Given the description of an element on the screen output the (x, y) to click on. 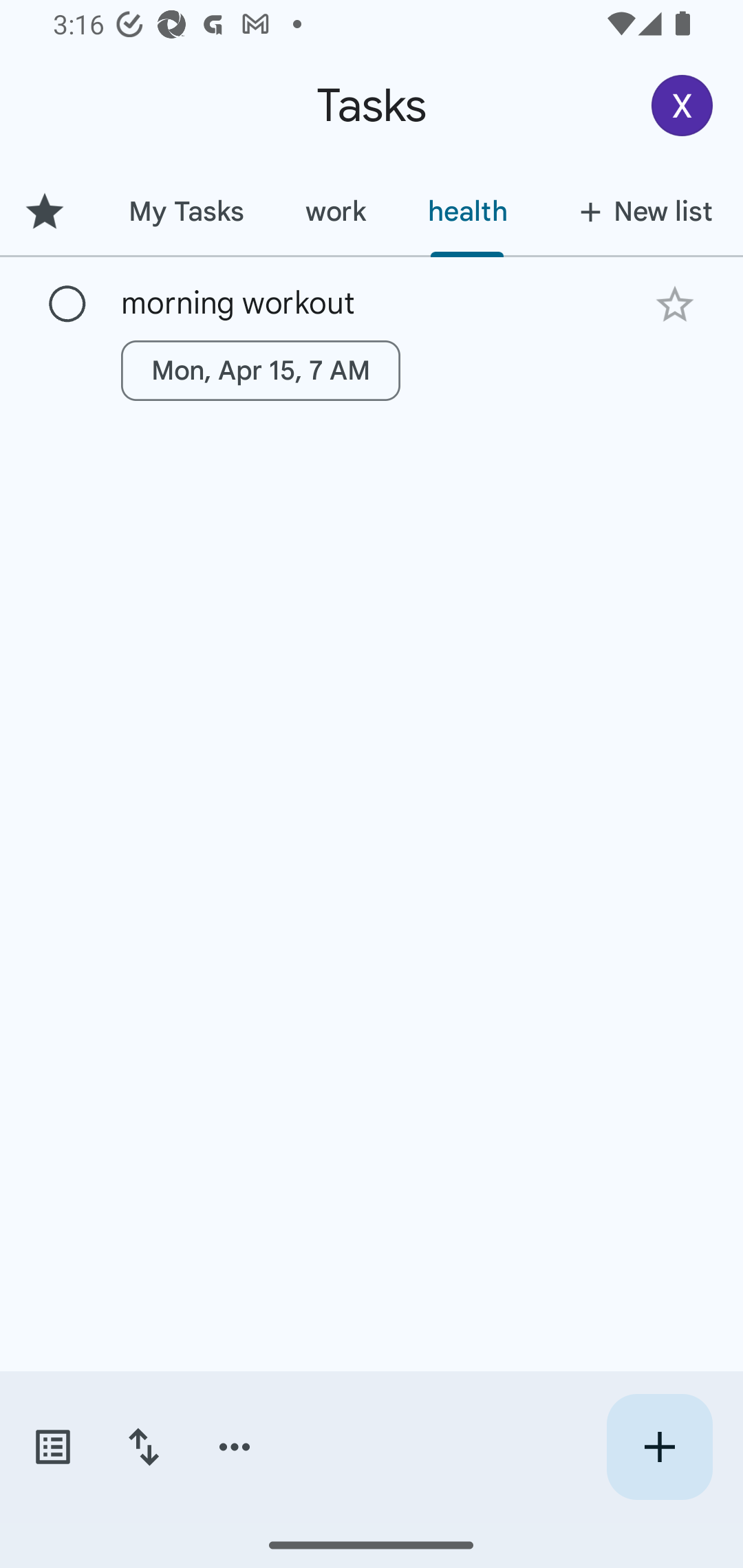
Starred (48, 211)
My Tasks (185, 211)
work (335, 211)
New list (640, 211)
Add star (674, 303)
Mark as complete (67, 304)
Mon, Apr 15, 7 AM (260, 369)
Switch task lists (52, 1447)
Create new task (659, 1446)
Change sort order (143, 1446)
More options (234, 1446)
